Given the description of an element on the screen output the (x, y) to click on. 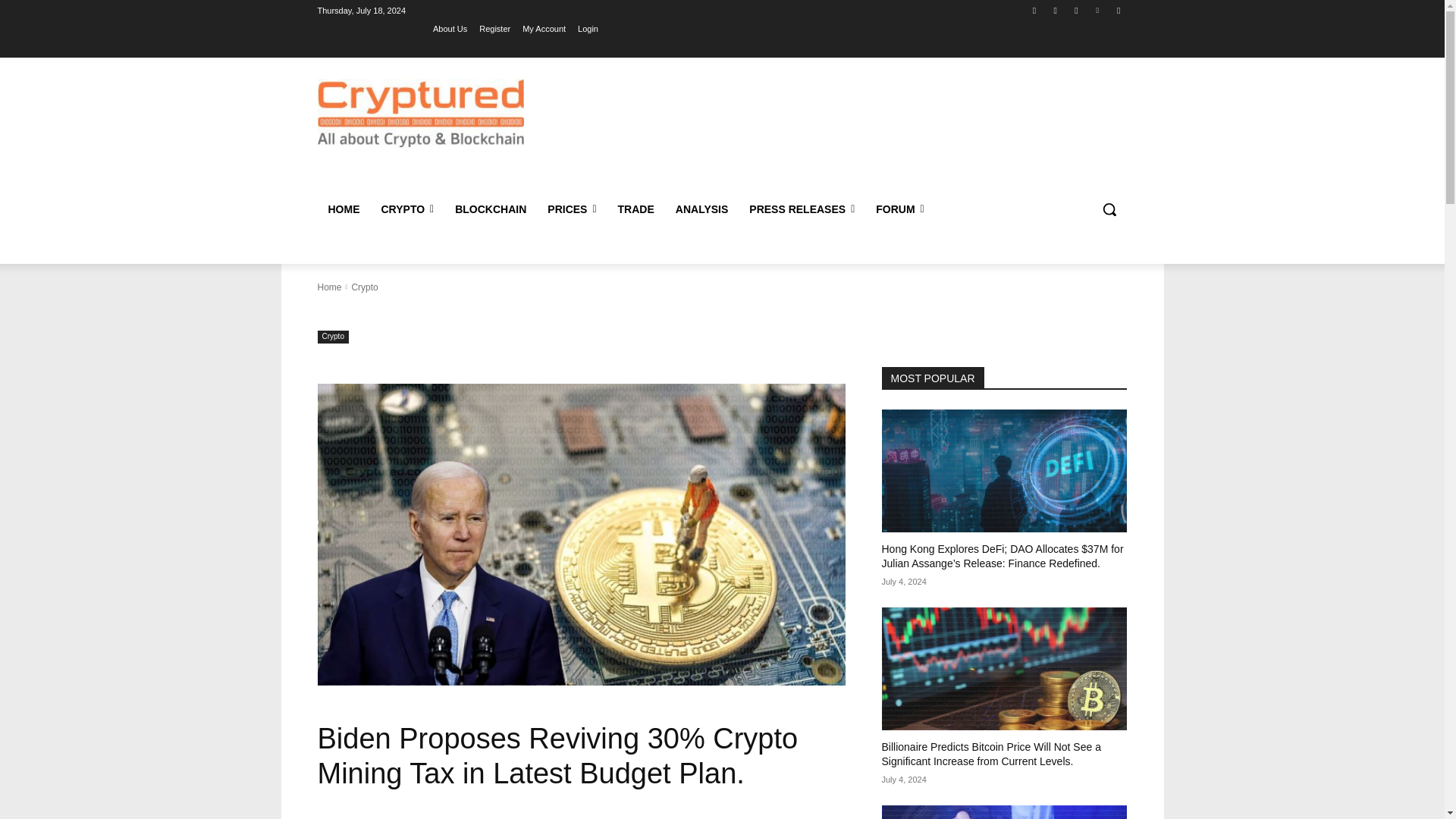
HOME (343, 208)
Login (588, 28)
About Us (449, 28)
Instagram (1055, 9)
PRICES (572, 208)
Register (495, 28)
Twitter (1075, 9)
Youtube (1117, 9)
Facebook (1034, 9)
BLOCKCHAIN (490, 208)
Advertisement (846, 128)
View all posts in Crypto (363, 286)
Vimeo (1097, 9)
My Account (544, 28)
CRYPTO (406, 208)
